Given the description of an element on the screen output the (x, y) to click on. 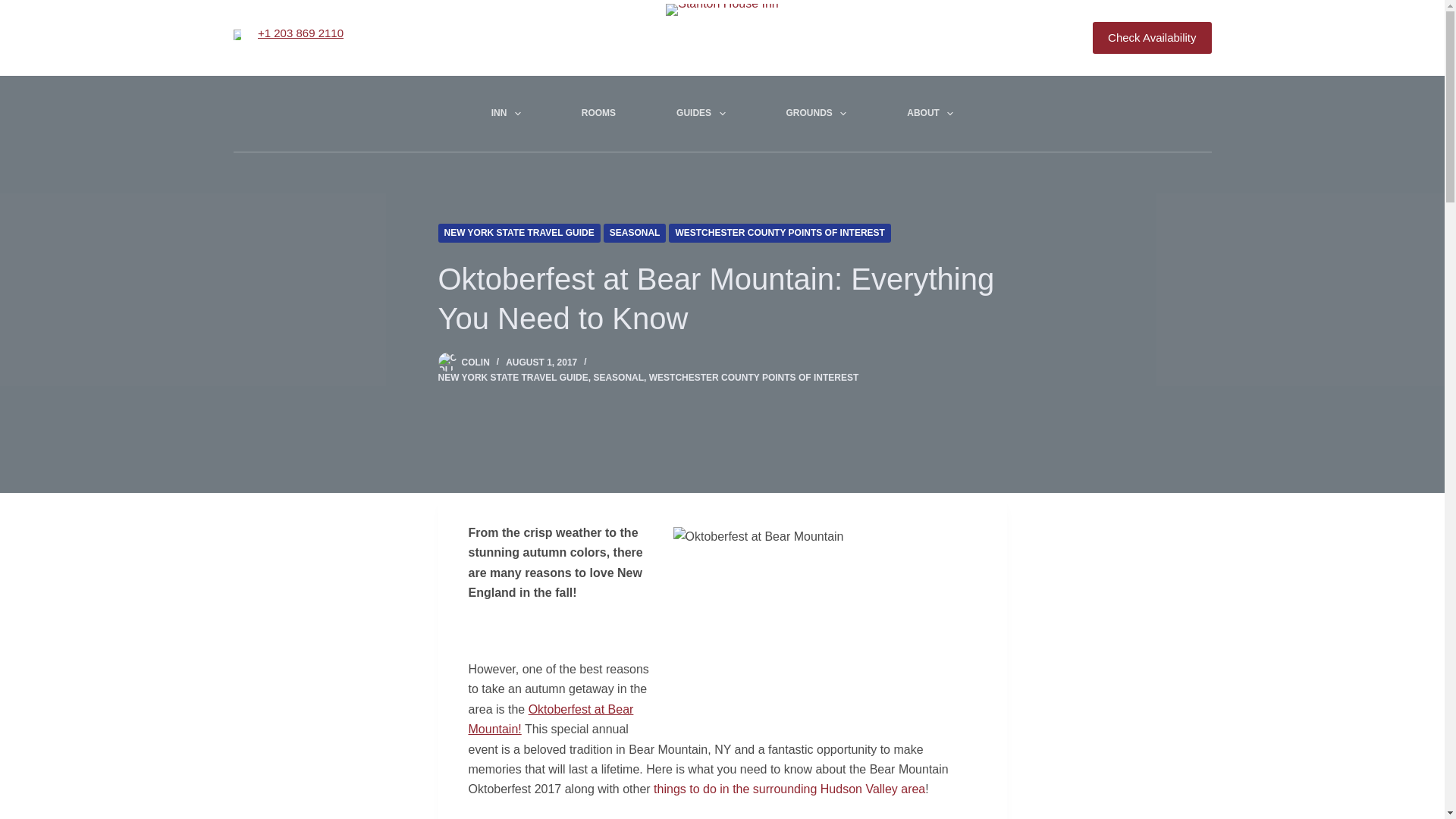
Oktoberfest At Bear Mountain: Everything You Need To Know 1 (824, 628)
Oktoberfest at Bear Mountain: Everything You Need to Know (722, 298)
Skip to content (15, 7)
Check Availability (1152, 38)
Posts by Colin (475, 362)
INN (506, 113)
